Given the description of an element on the screen output the (x, y) to click on. 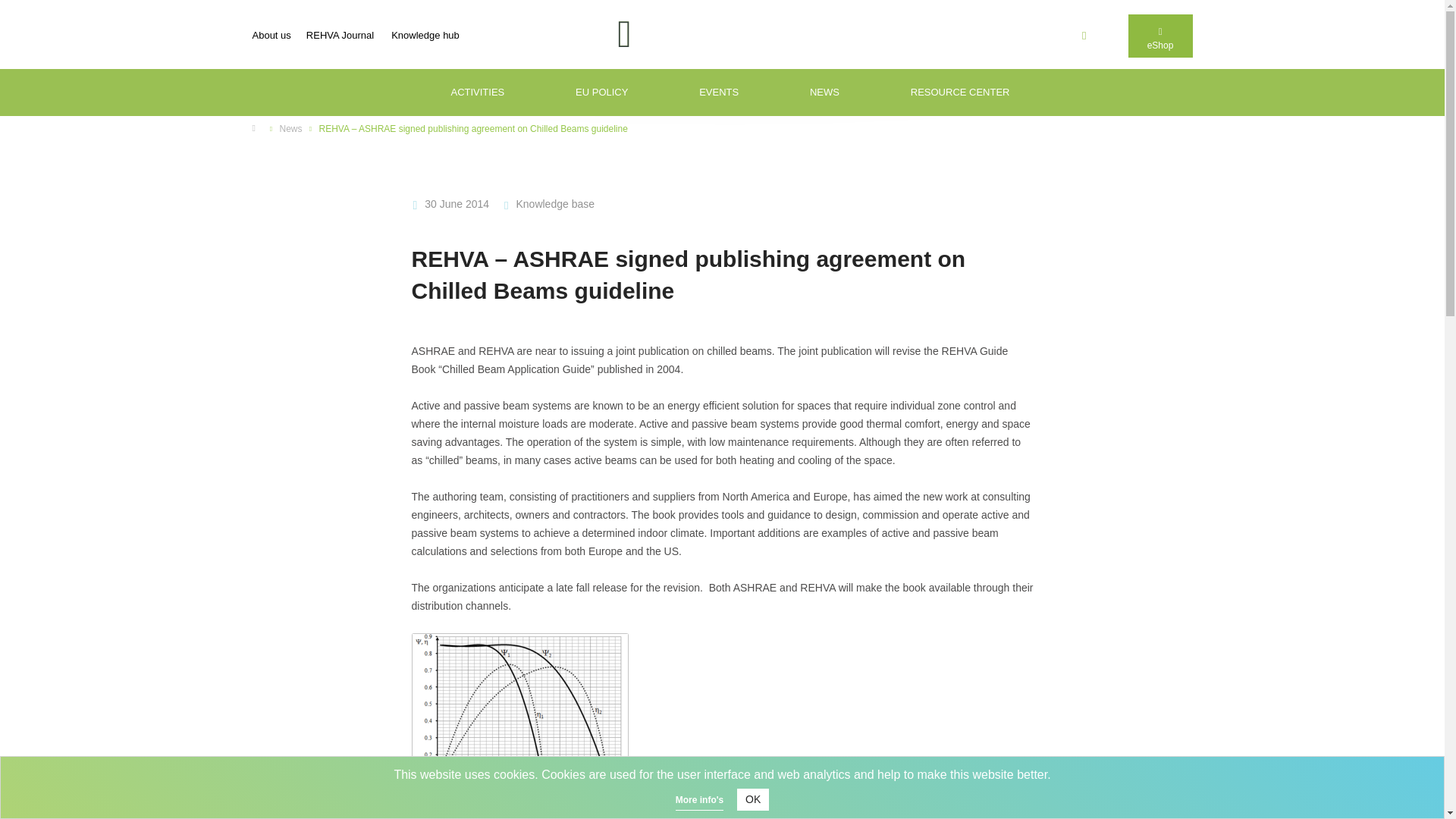
REHVA Journal (339, 33)
Knowledge hub (425, 29)
About us (270, 33)
REHVA Journal (339, 33)
Knowledge hub (425, 29)
eShop (1160, 35)
About us (270, 33)
